Given the description of an element on the screen output the (x, y) to click on. 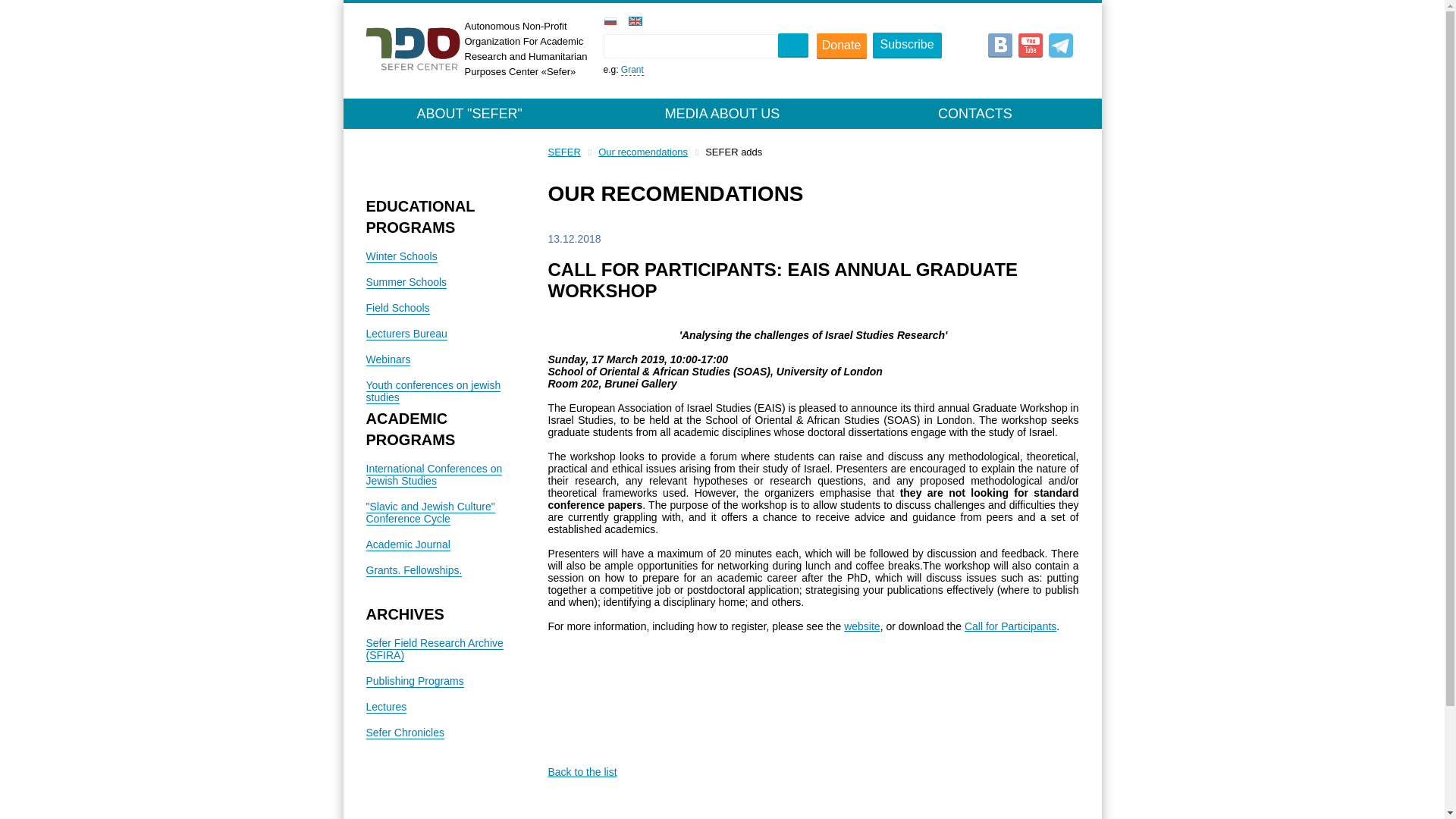
Lectures (385, 707)
website (861, 625)
Winter Schools (400, 256)
Back to the list (581, 771)
Sefer Chronicles (404, 732)
Youtube (1029, 45)
Our recomendations (642, 151)
Grants. Fellowships. (413, 570)
Donate (840, 45)
Youth conferences on jewish studies (432, 391)
Telegramm (1059, 45)
Grant (632, 70)
Lecturers Bureau (405, 333)
Call for Participants (1010, 625)
SEFER (563, 151)
